Given the description of an element on the screen output the (x, y) to click on. 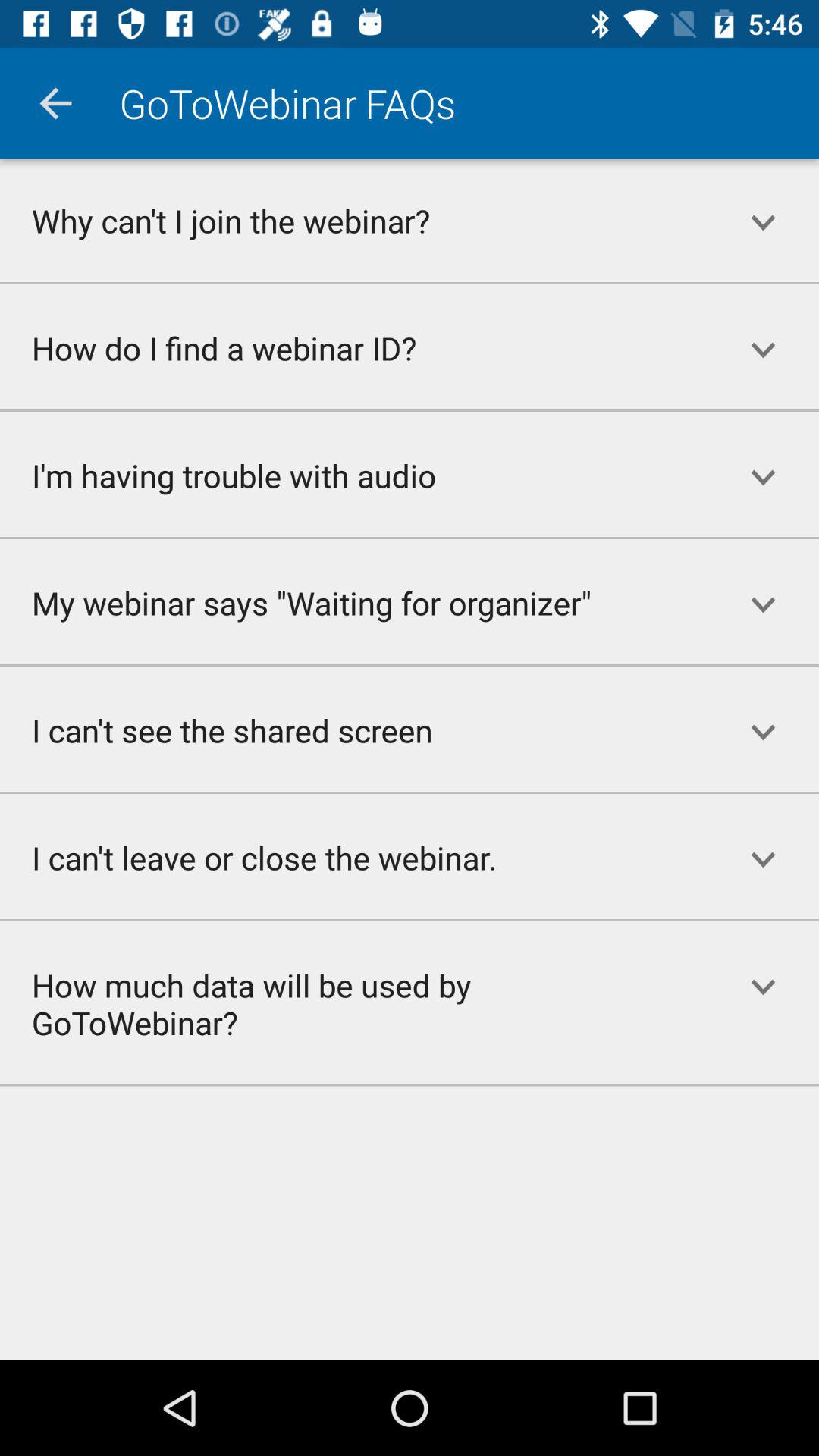
open how much data item (353, 1003)
